Given the description of an element on the screen output the (x, y) to click on. 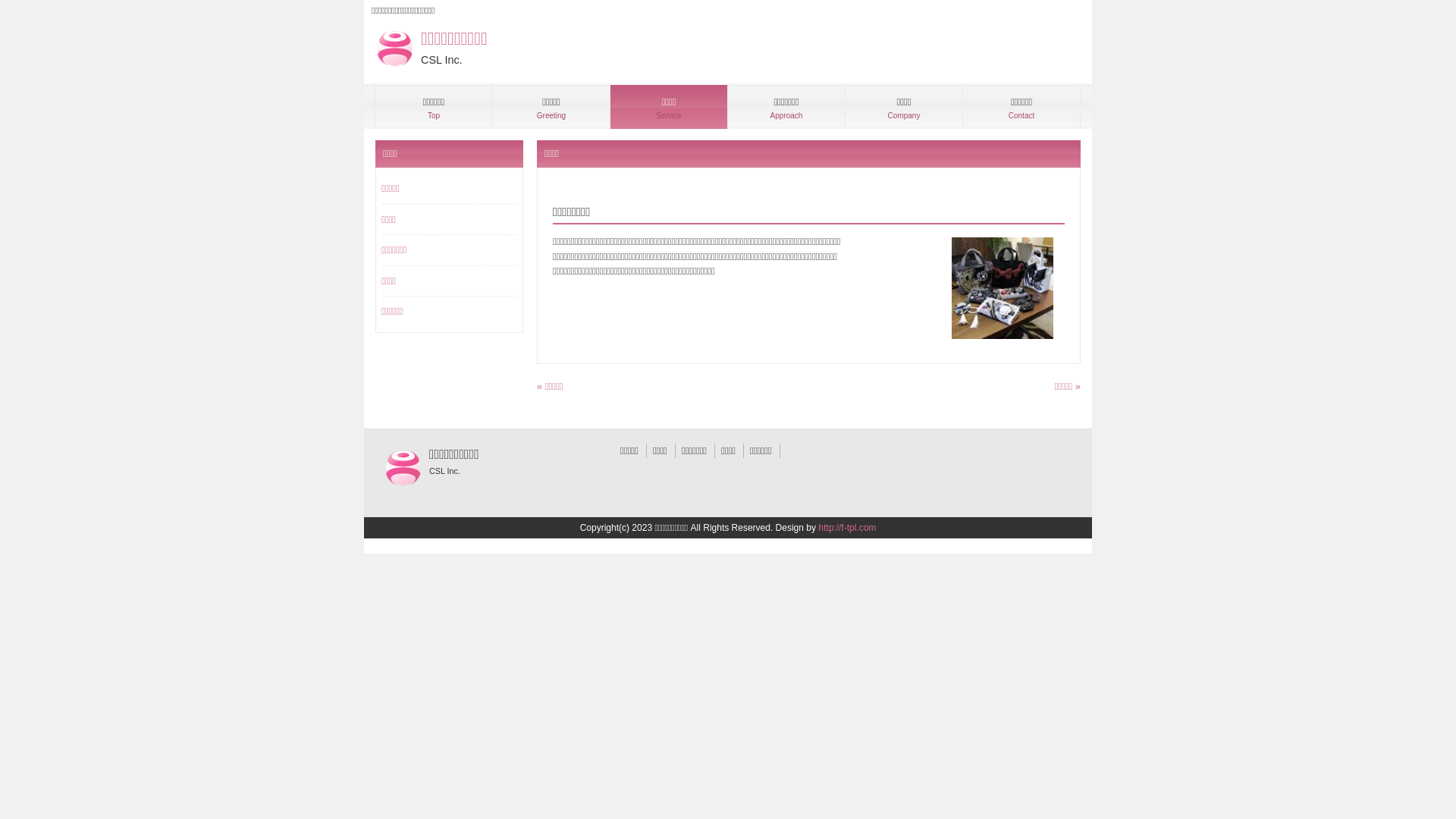
http://f-tpl.com Element type: text (846, 527)
